Given the description of an element on the screen output the (x, y) to click on. 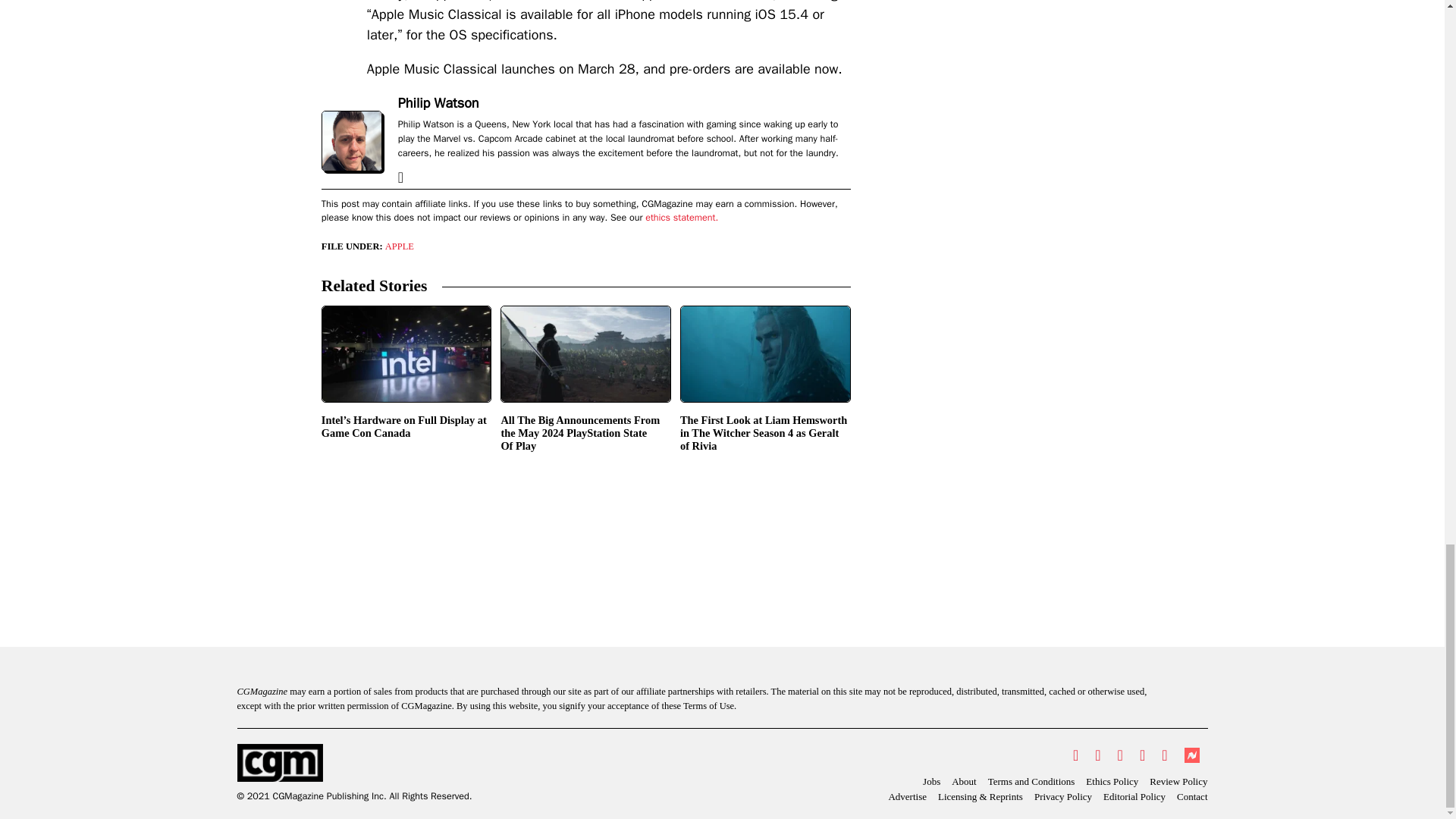
CGMagazine (353, 762)
NewsBreak (1190, 754)
Philip Watson (438, 103)
Flipboard Page (1163, 754)
YouTube Page (1142, 754)
Twitter Profile (1075, 754)
Facebook Page (1097, 754)
Instagram Profile (1120, 754)
